Given the description of an element on the screen output the (x, y) to click on. 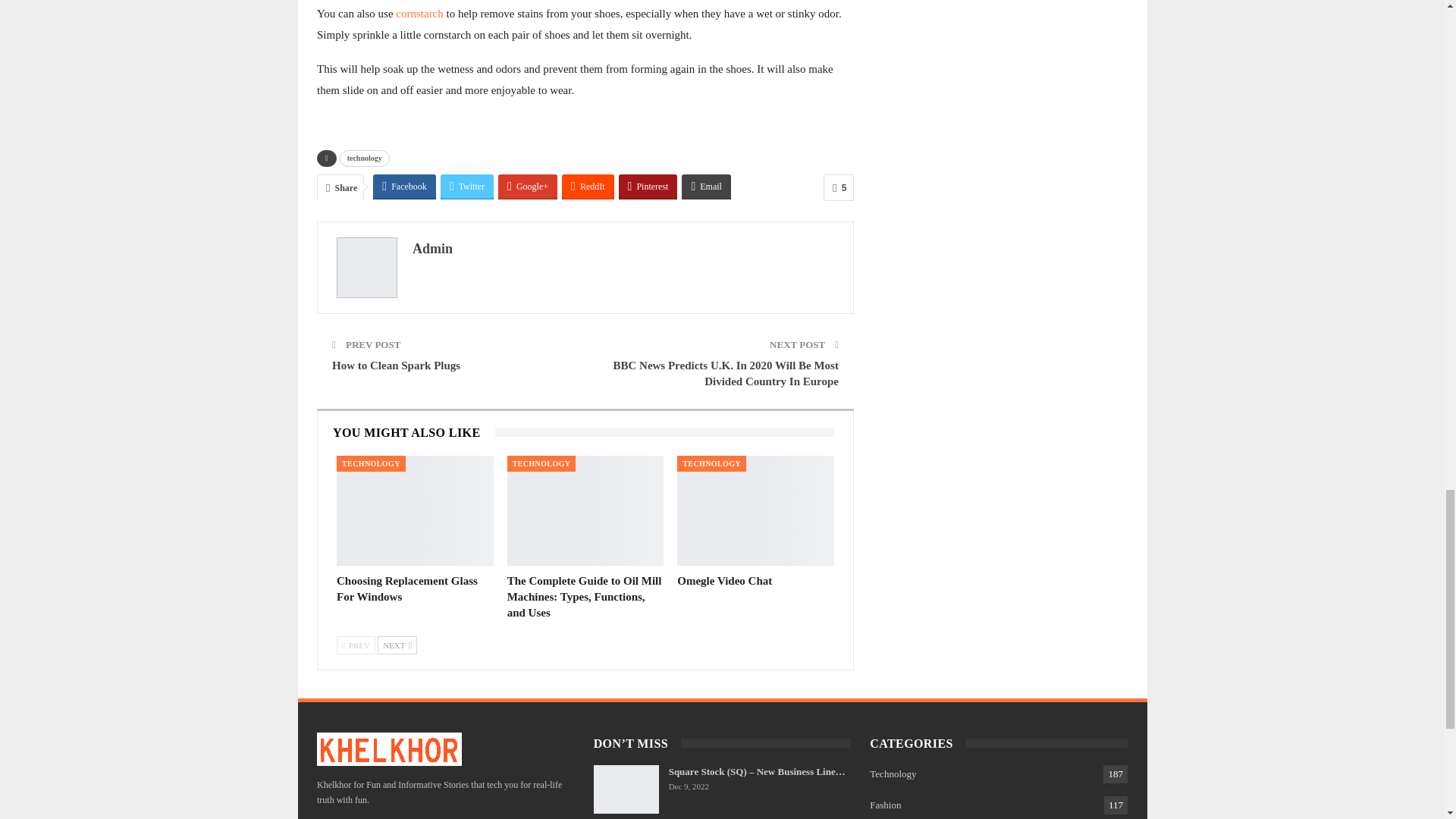
Choosing Replacement Glass For Windows (414, 510)
Omegle Video Chat (724, 580)
Omegle Video Chat (755, 510)
Choosing Replacement Glass For Windows (406, 588)
